Given the description of an element on the screen output the (x, y) to click on. 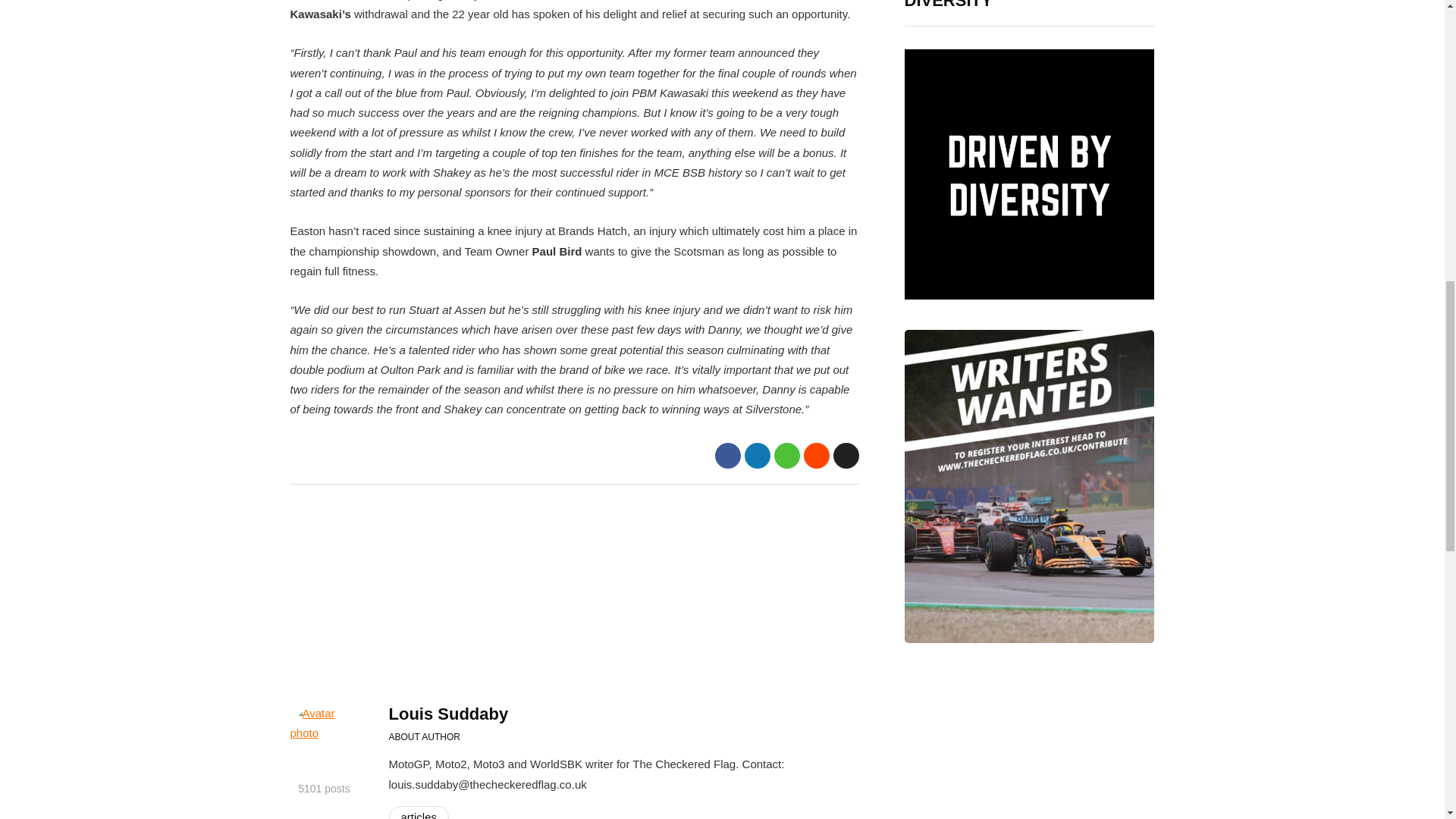
Share with Facebook (726, 455)
Support Driven by Diversity (1029, 174)
Share on Reddit (816, 455)
Share by Email (845, 455)
Share to WhatsApp (786, 455)
Share with LinkedIn (757, 455)
Posts by Louis Suddaby (448, 713)
